Given the description of an element on the screen output the (x, y) to click on. 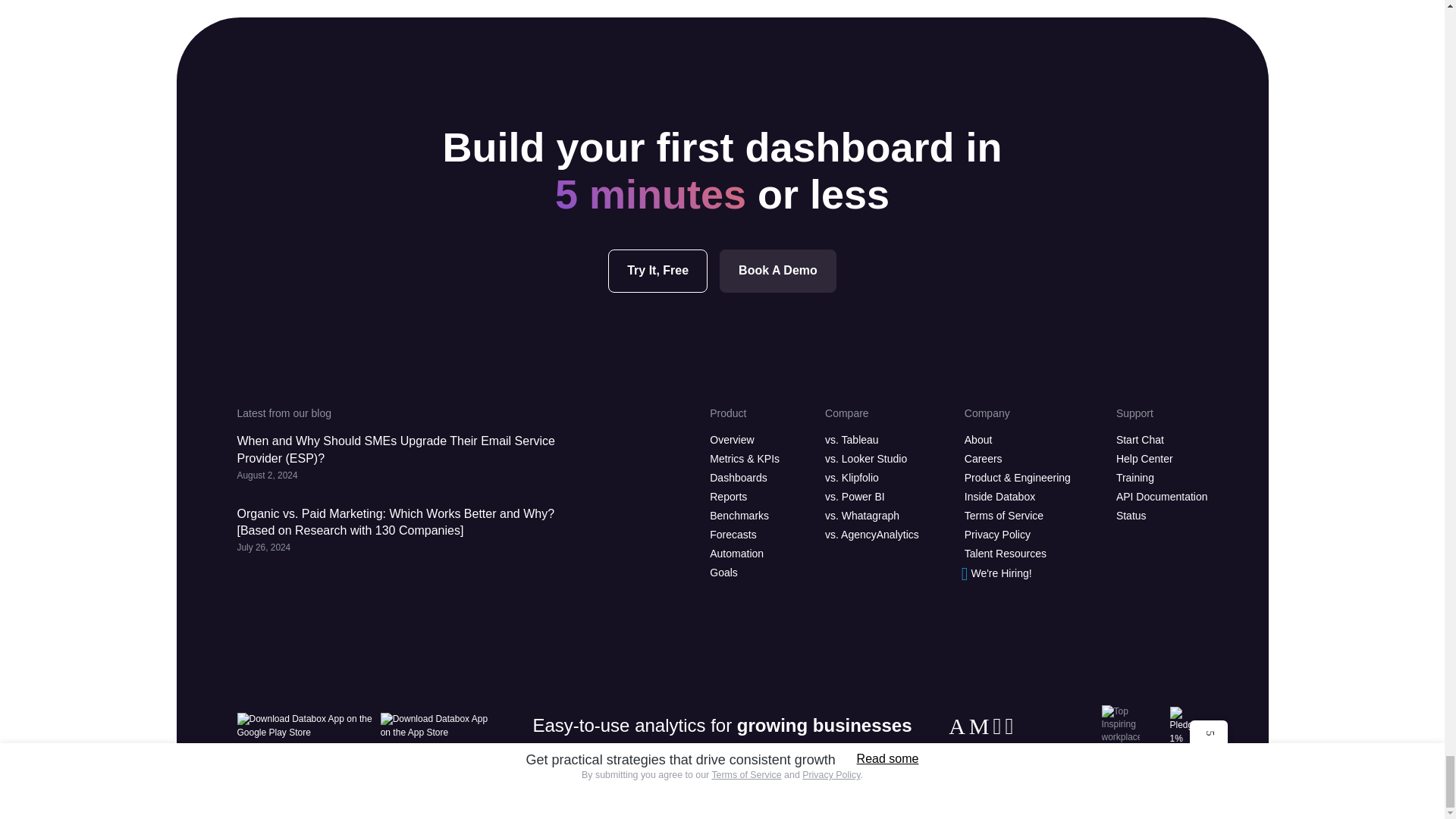
Linkedin Databox page (959, 726)
Glassdoor Databox page (1010, 726)
Twitter Databox page (980, 726)
Instagram Databox page (999, 726)
